Given the description of an element on the screen output the (x, y) to click on. 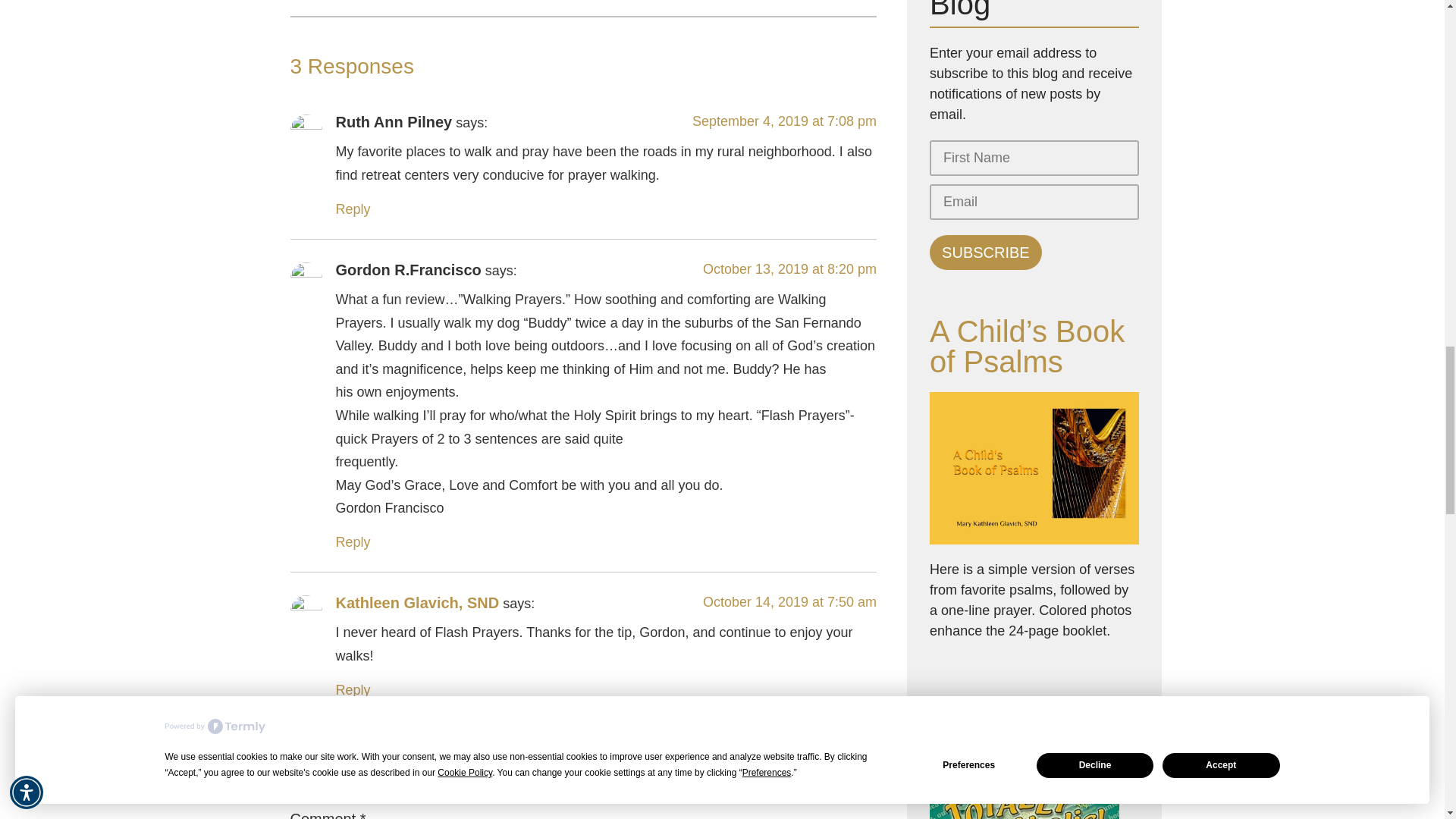
Reply (351, 209)
October 13, 2019 at 8:20 pm (789, 268)
September 4, 2019 at 7:08 pm (784, 120)
SUBSCRIBE (986, 252)
